Given the description of an element on the screen output the (x, y) to click on. 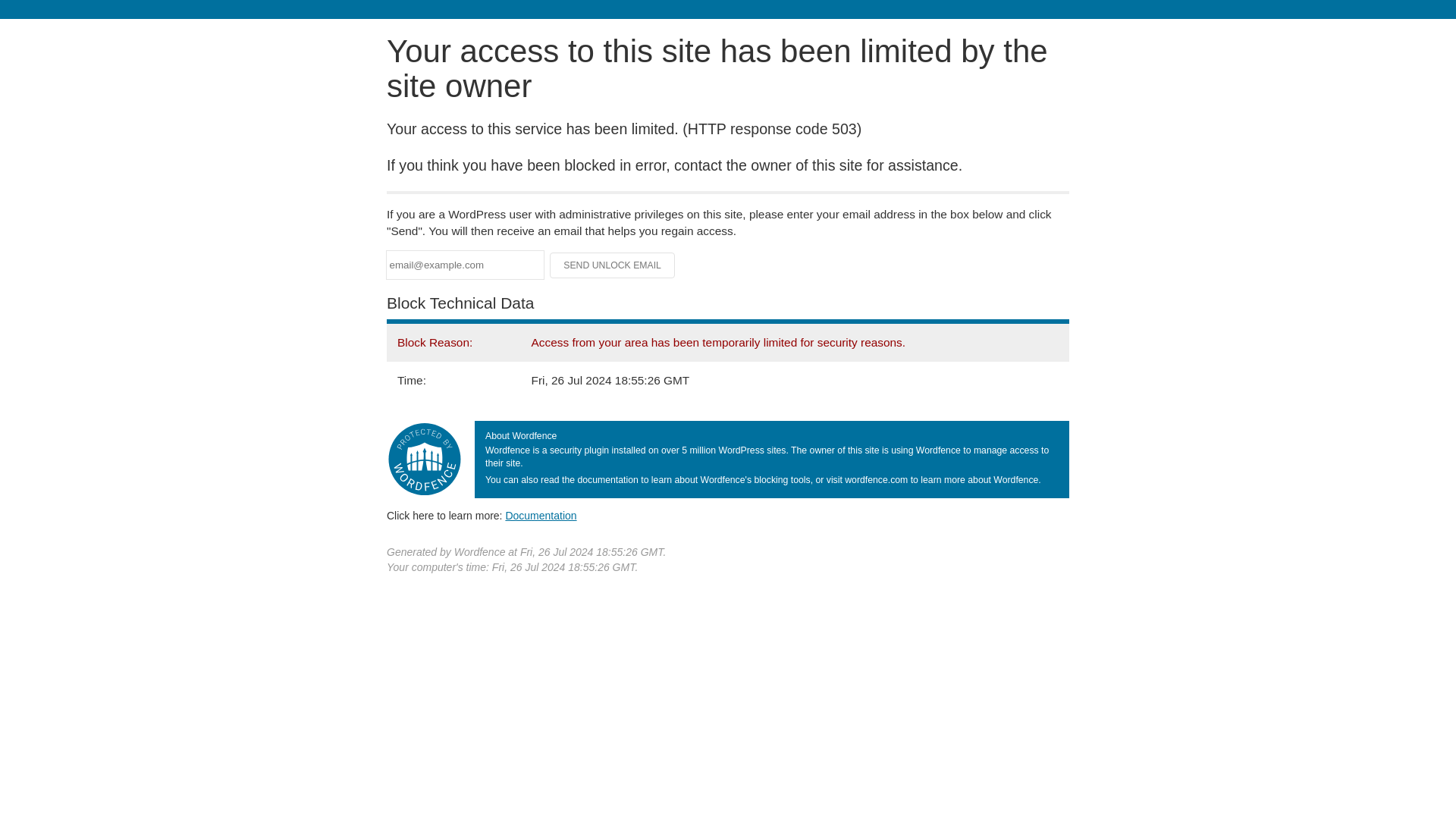
Send Unlock Email (612, 265)
Send Unlock Email (612, 265)
Documentation (540, 515)
